Given the description of an element on the screen output the (x, y) to click on. 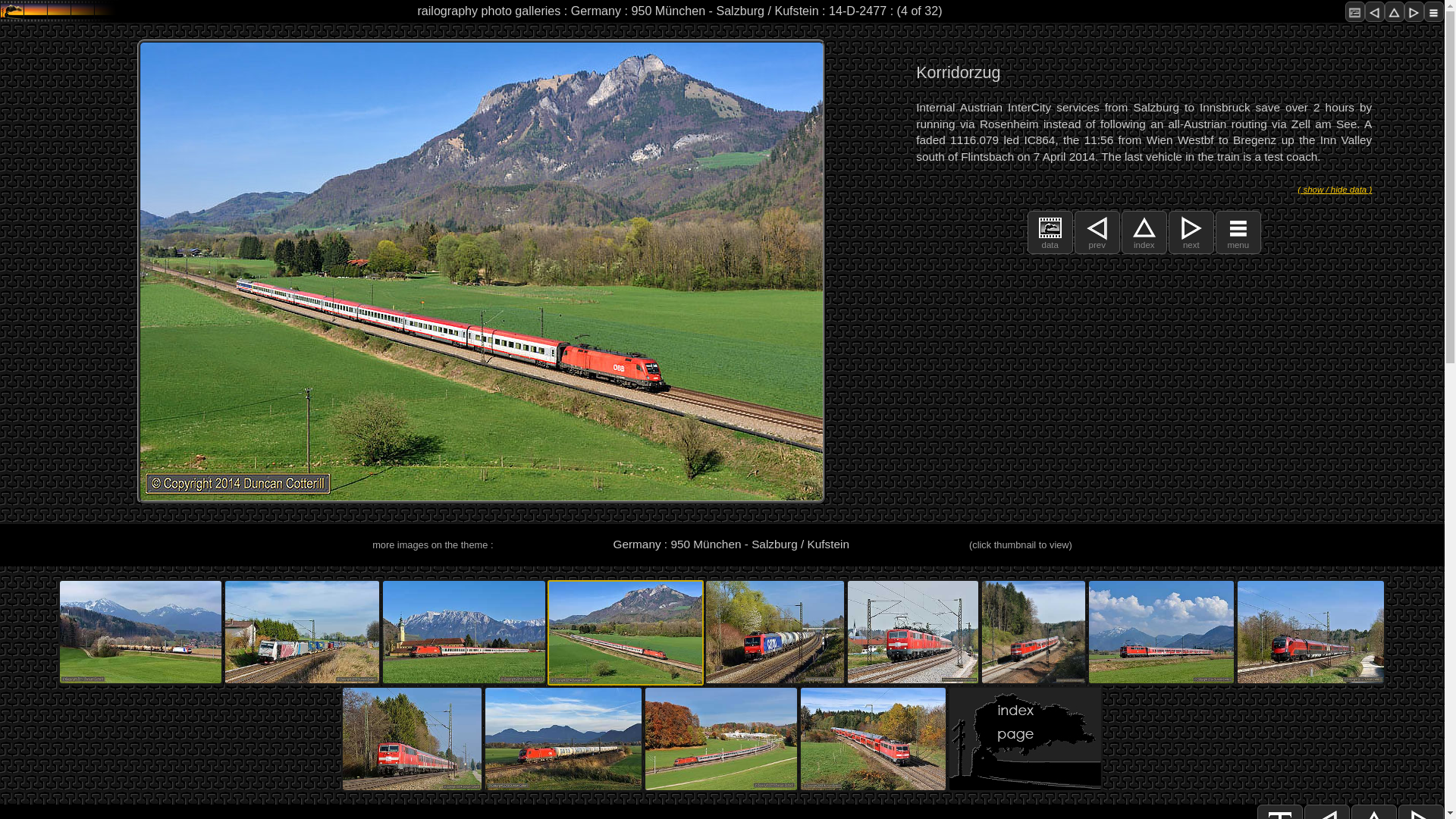
menu (1238, 244)
prev (1097, 244)
index (1144, 244)
next (1190, 244)
data (1050, 244)
